Given the description of an element on the screen output the (x, y) to click on. 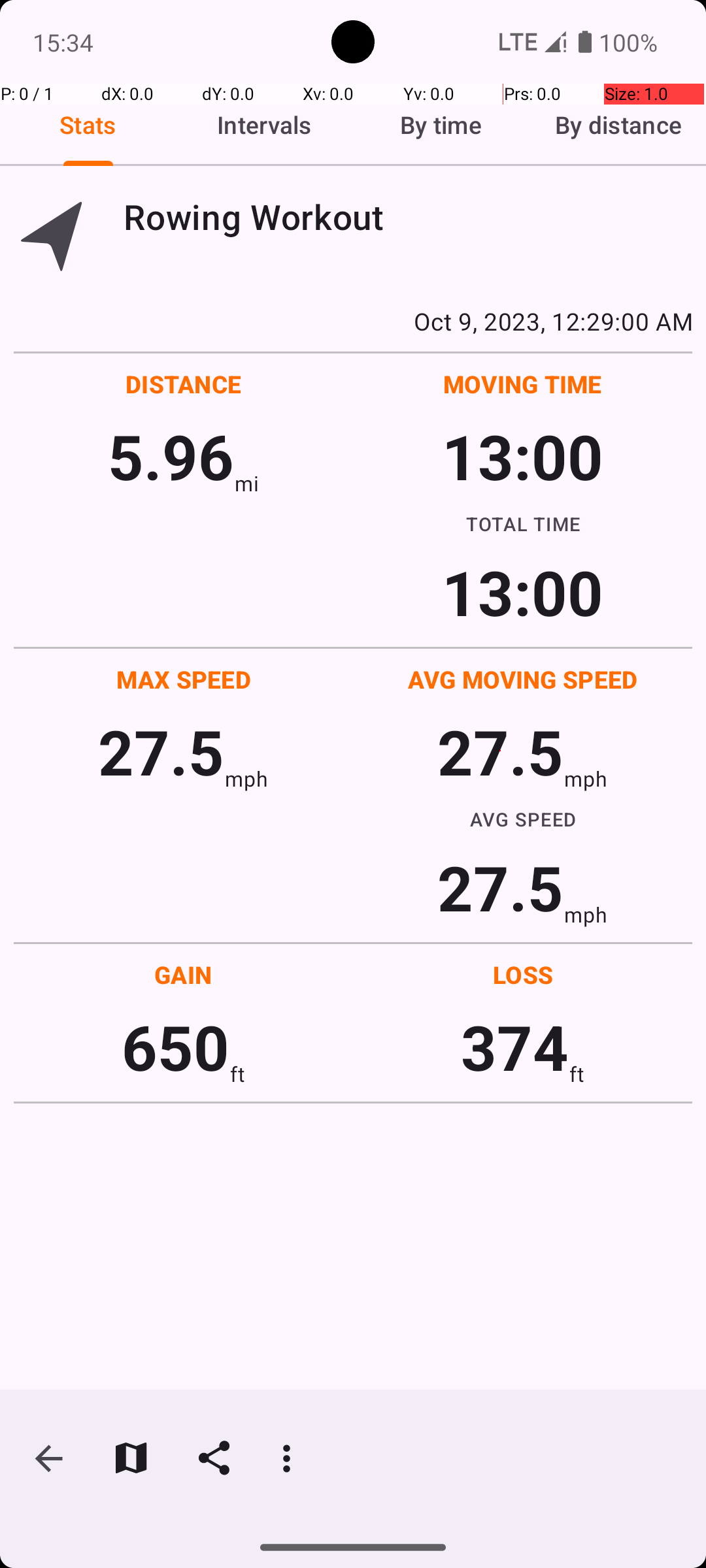
Rowing Workout Element type: android.widget.TextView (407, 216)
Oct 9, 2023, 12:29:00 AM Element type: android.widget.TextView (352, 320)
5.96 Element type: android.widget.TextView (170, 455)
27.5 Element type: android.widget.TextView (161, 750)
650 Element type: android.widget.TextView (175, 1045)
374 Element type: android.widget.TextView (514, 1045)
